Given the description of an element on the screen output the (x, y) to click on. 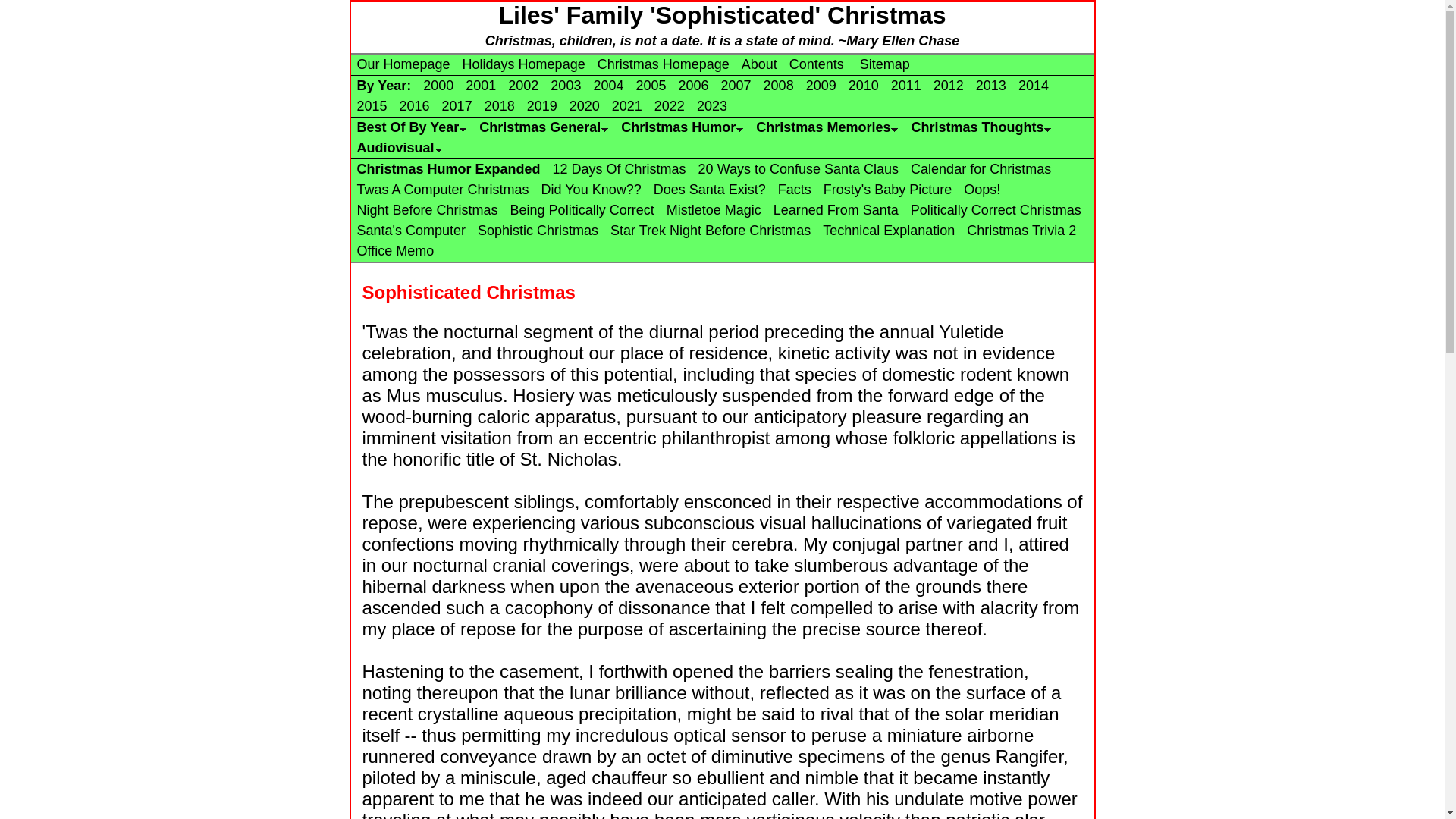
2017 (456, 105)
Christmas Memories (826, 127)
Christmas Humor (682, 127)
12 Days Of Christmas (619, 168)
Christmas Homepage (662, 64)
2003 (565, 85)
2022 (668, 105)
Audiovisual (399, 147)
2020 (584, 105)
2005 (649, 85)
2004 (607, 85)
2002 (523, 85)
 Sitemap (883, 64)
2023 (711, 105)
2013 (990, 85)
